Given the description of an element on the screen output the (x, y) to click on. 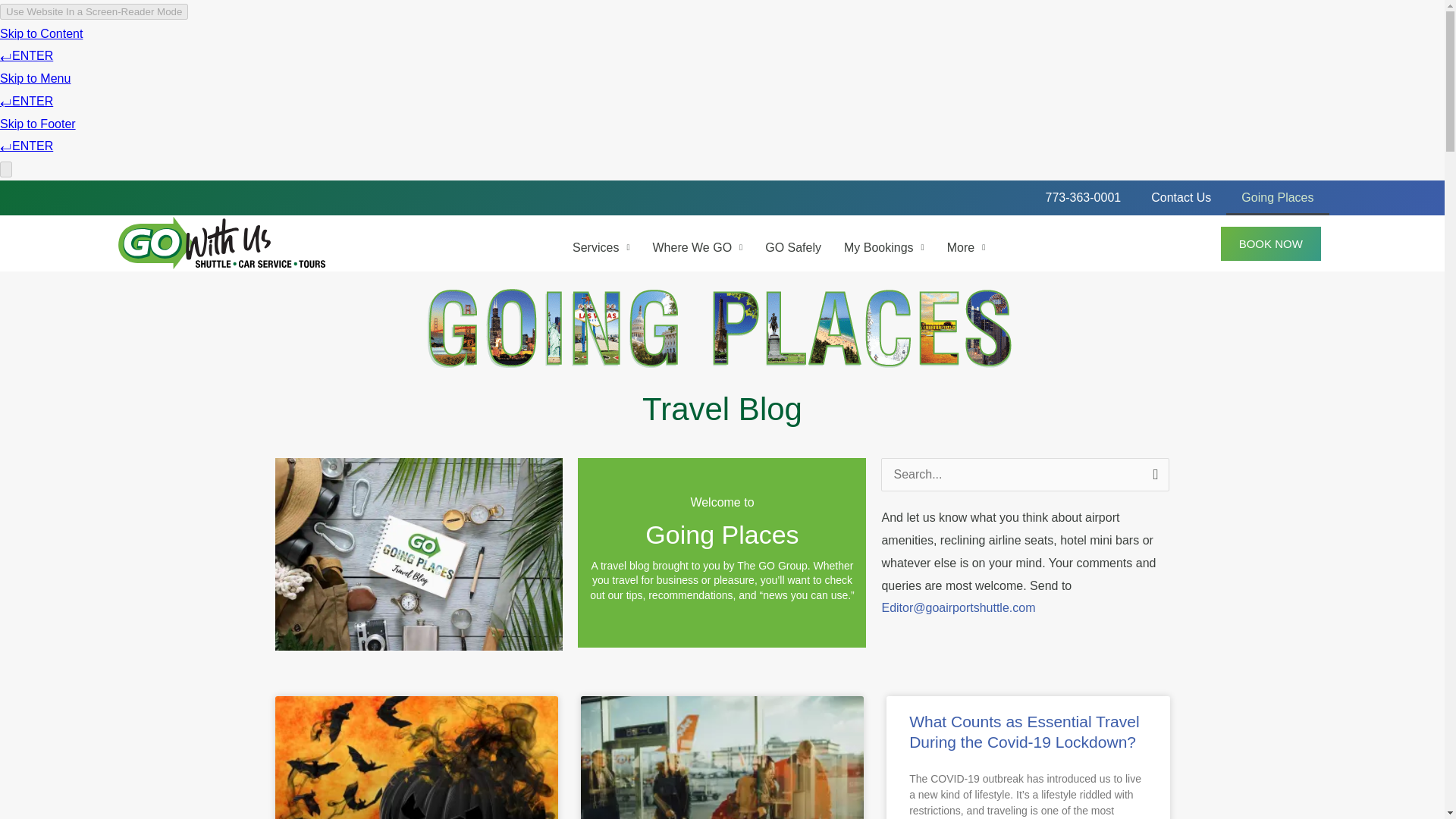
Contact Us (1180, 197)
My Bookings (884, 247)
Search (1152, 472)
Call Customer Service (1083, 197)
GO Airport Shuttle Services (600, 247)
Going Places (1276, 197)
Search (1152, 472)
GO Safely (793, 247)
Contact GO (1180, 197)
Services (600, 247)
More (966, 247)
GO Airport Shuttle Locations (697, 247)
GOing Places Travel Blog (1276, 197)
Where We GO (697, 247)
773-363-0001 (1083, 197)
